Given the description of an element on the screen output the (x, y) to click on. 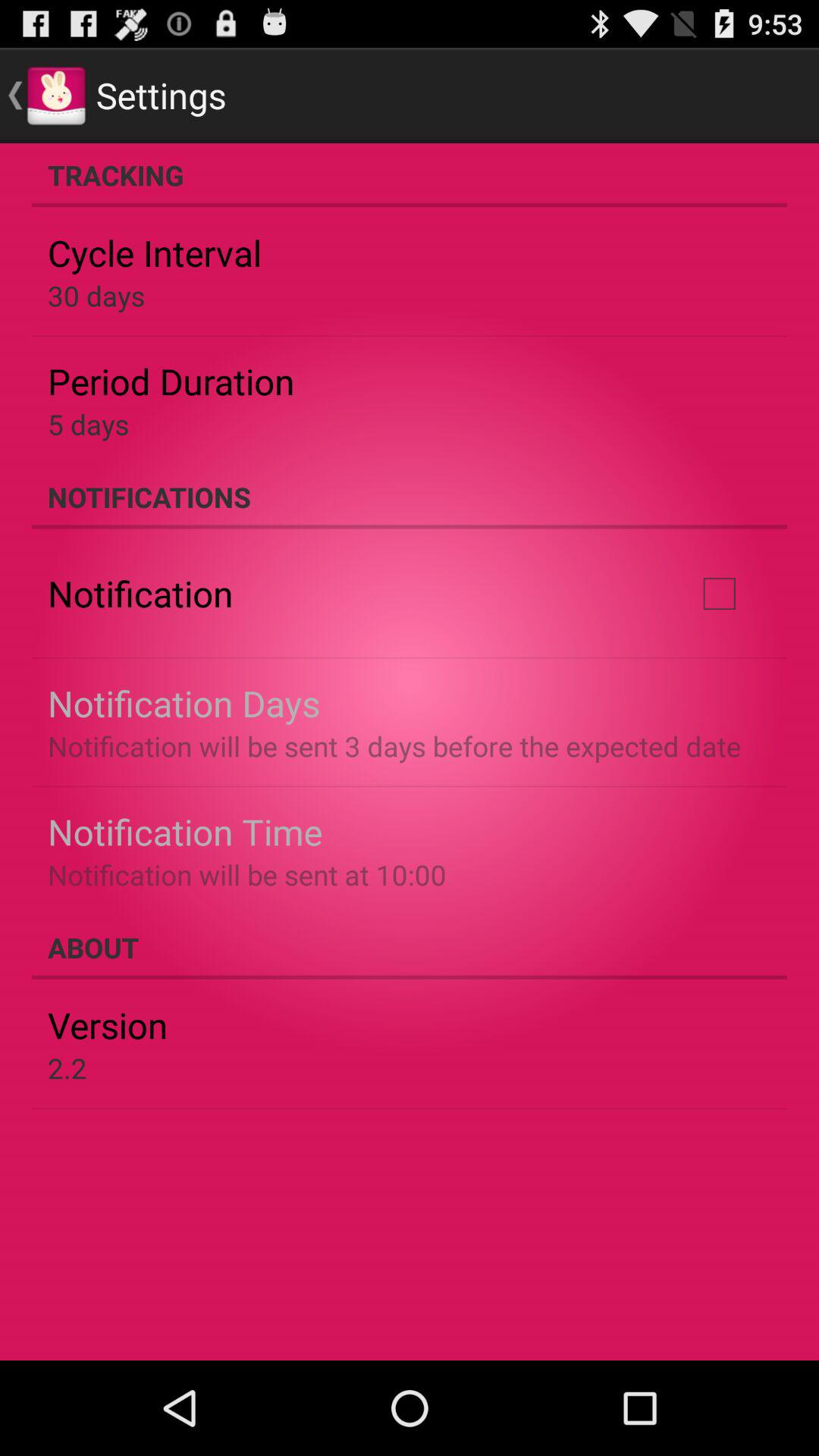
press 5 days icon (88, 424)
